Given the description of an element on the screen output the (x, y) to click on. 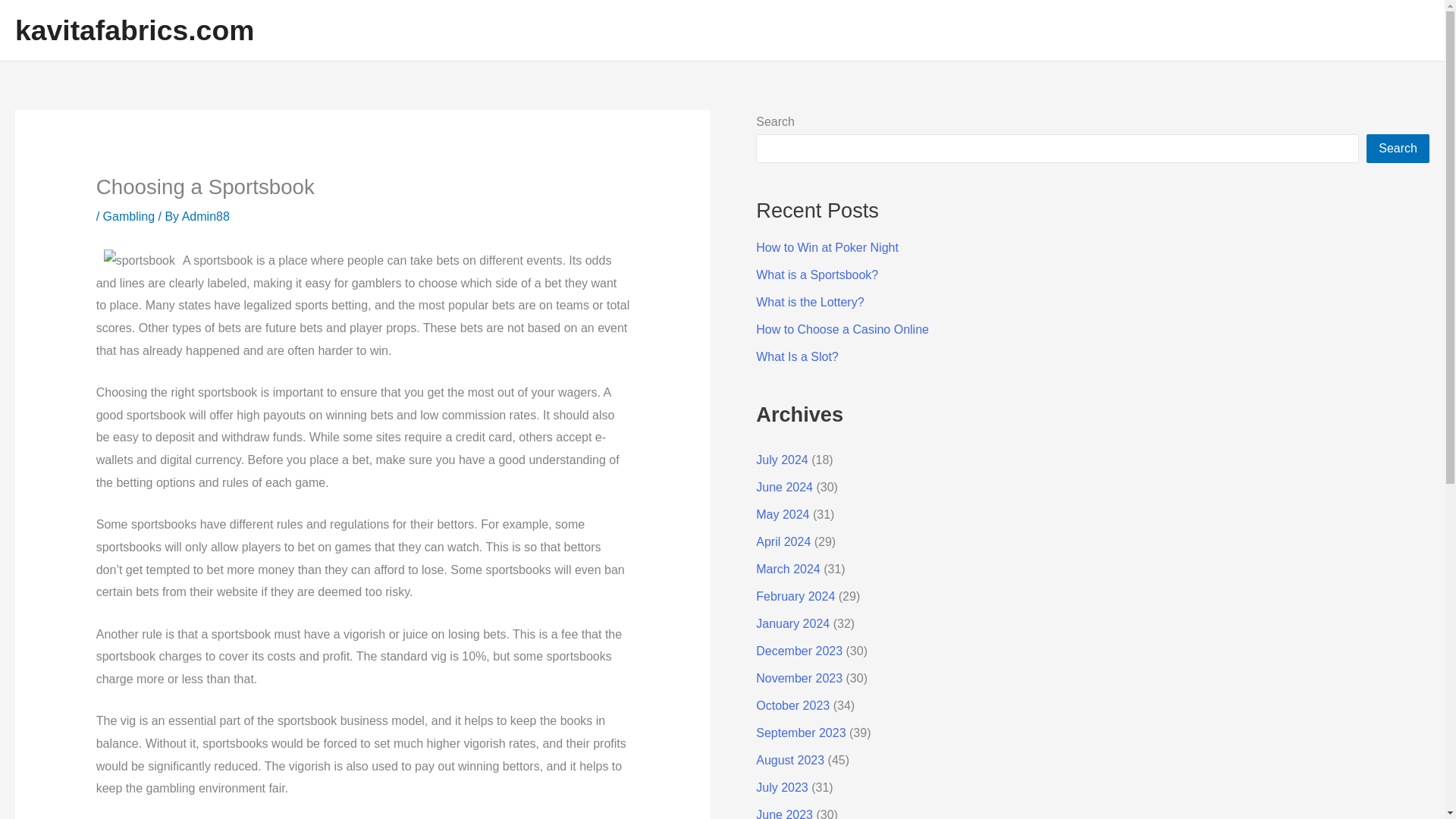
June 2024 (783, 486)
November 2023 (799, 677)
How to Win at Poker Night (826, 246)
October 2023 (792, 705)
What is the Lottery? (809, 301)
July 2024 (781, 459)
How to Choose a Casino Online (841, 328)
March 2024 (788, 568)
Gambling (128, 215)
April 2024 (782, 541)
Admin88 (206, 215)
February 2024 (794, 595)
September 2023 (800, 732)
May 2024 (782, 513)
June 2023 (783, 813)
